Given the description of an element on the screen output the (x, y) to click on. 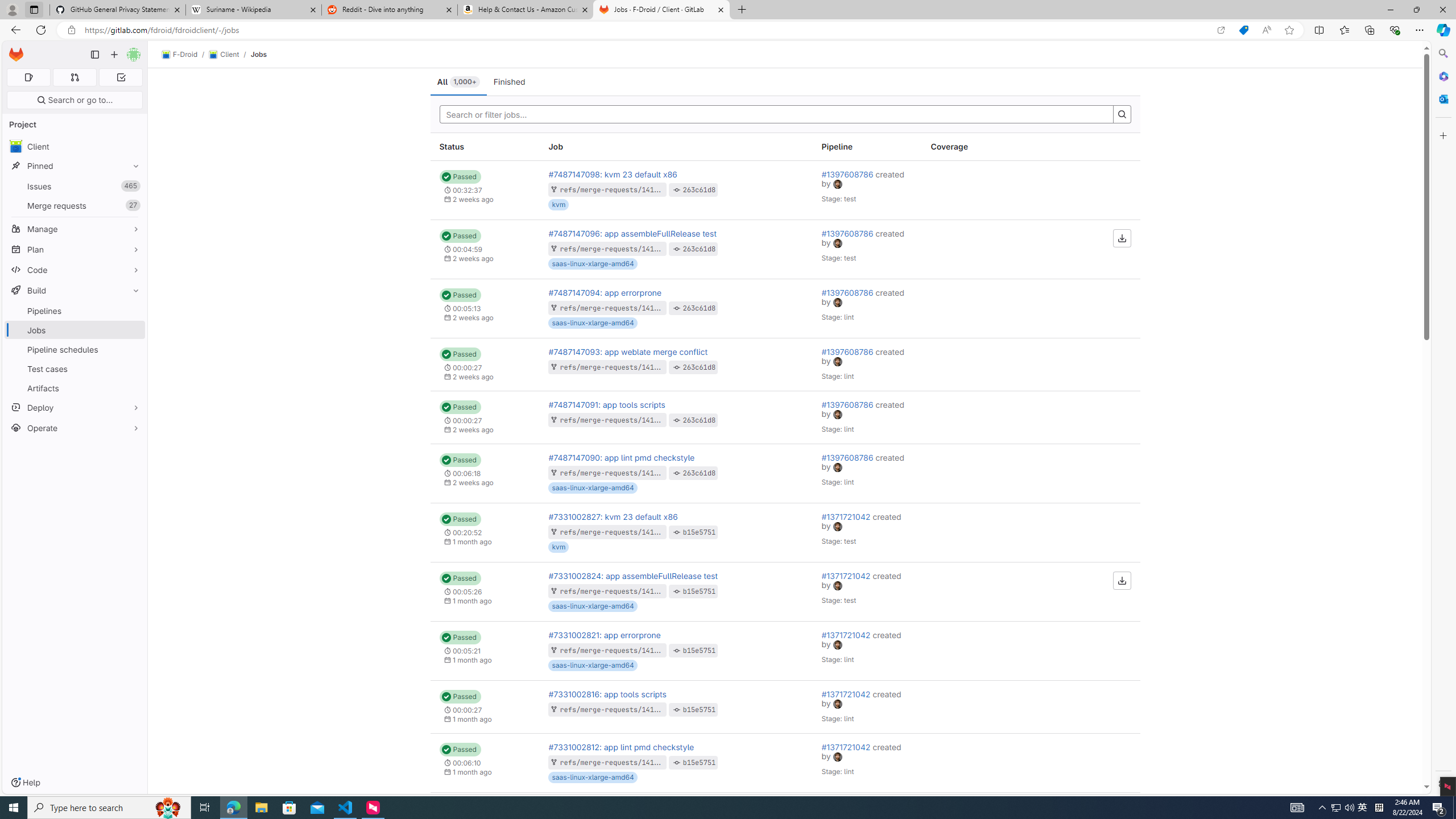
Homepage (16, 54)
Finished (509, 81)
Client (74, 145)
Pipelines (74, 310)
Pin Pipelines (132, 310)
Help (25, 782)
#7331002812: app lint pmd checkstyle (621, 746)
avatar (837, 756)
Status: Passed (459, 749)
#7487147094: app errorprone (605, 292)
To-Do list 0 (120, 76)
